Given the description of an element on the screen output the (x, y) to click on. 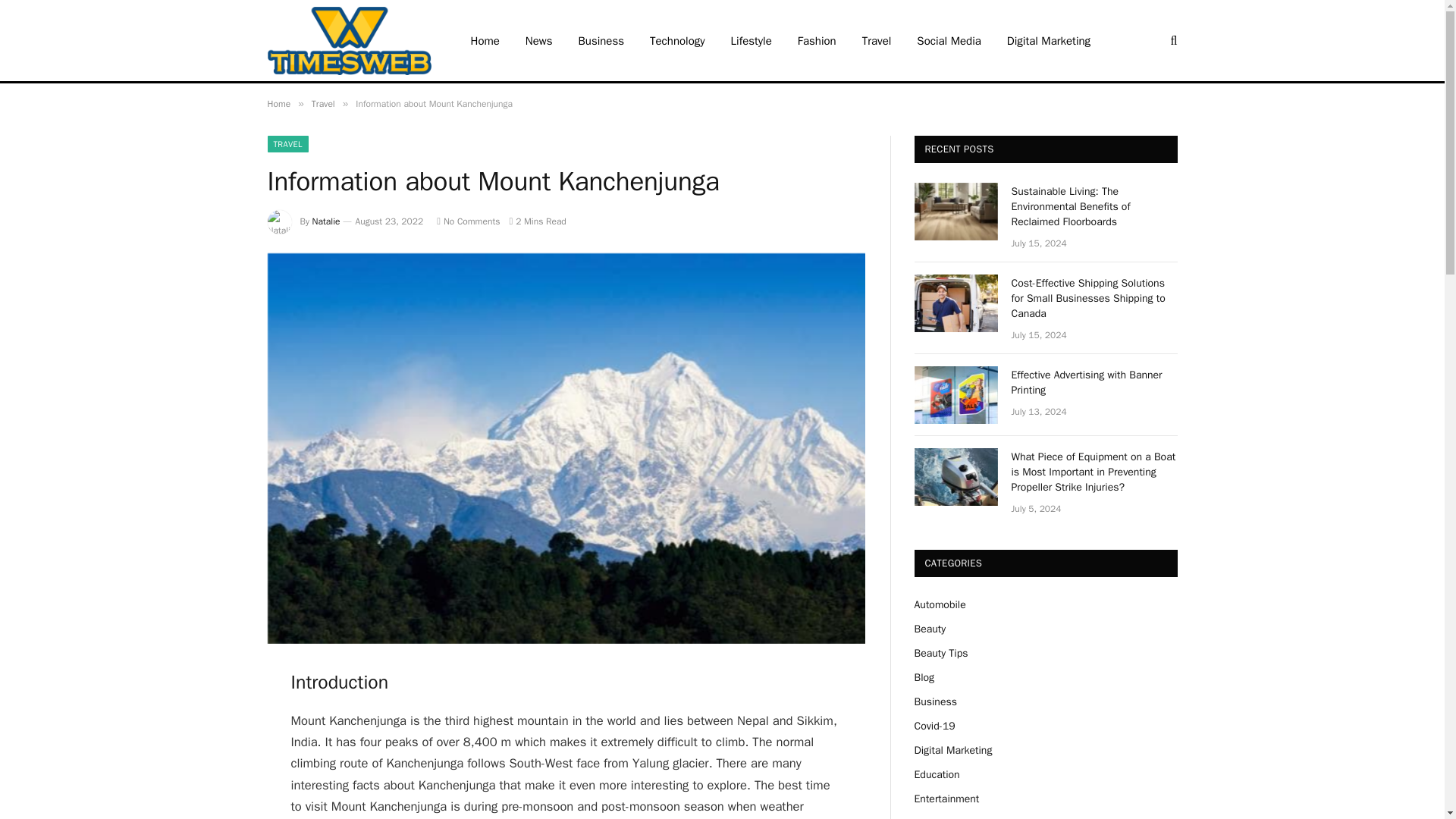
Posts by Natalie (326, 221)
Home (485, 40)
Search (1172, 40)
News (539, 40)
Home (277, 103)
Social Media (948, 40)
Lifestyle (750, 40)
Technology (677, 40)
Business (601, 40)
Digital Marketing (1048, 40)
Times Web (348, 40)
Travel (322, 103)
